Given the description of an element on the screen output the (x, y) to click on. 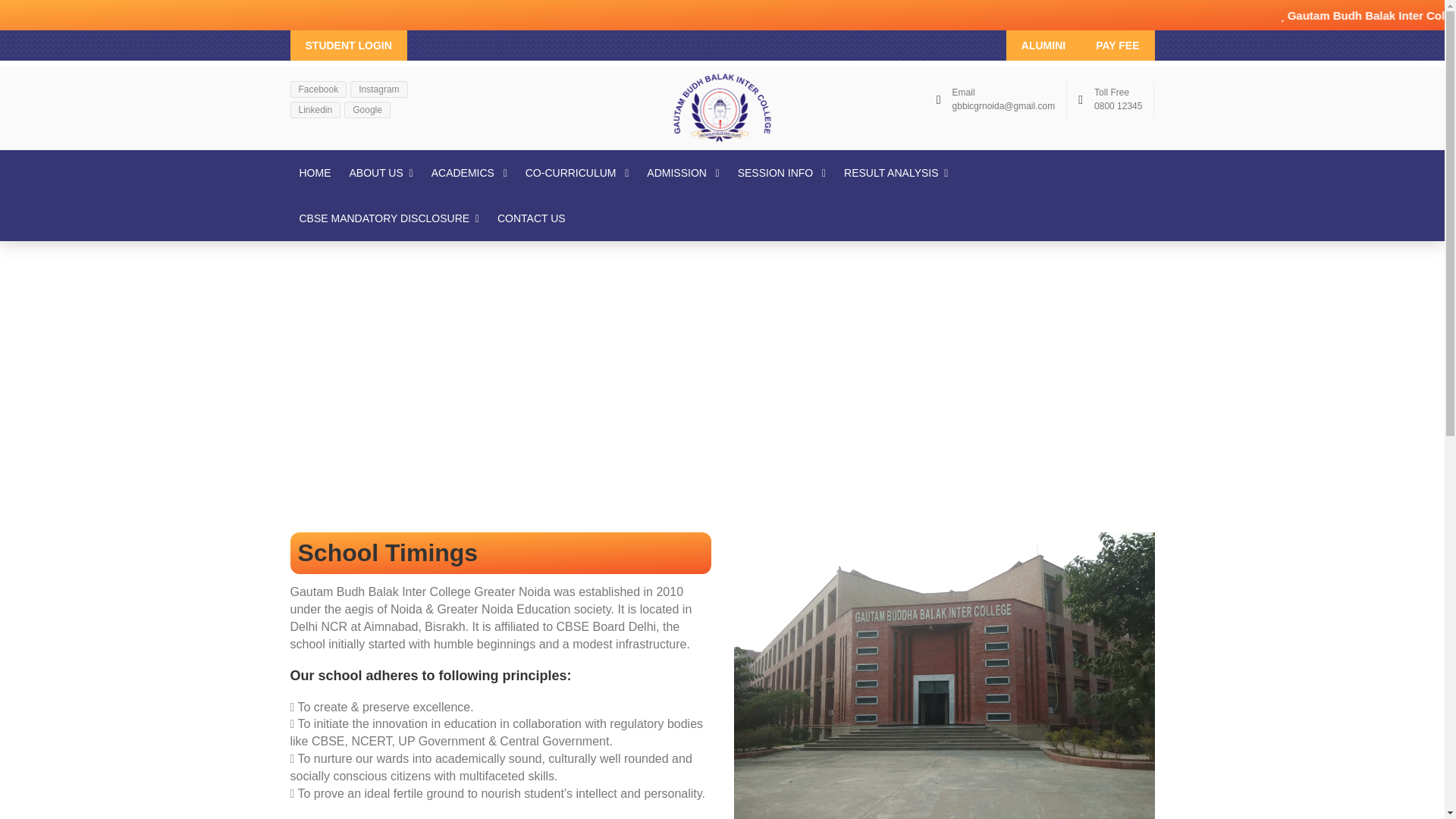
ADMISSION    (682, 172)
Google (366, 109)
SESSION INFO    (781, 172)
PAY FEE (1117, 45)
CO-CURRICULUM    (577, 172)
HOME (314, 172)
Linkedin (314, 109)
ALUMINI (1043, 45)
Facebook (317, 89)
RESULT ANALYSIS   (895, 172)
ACADEMICS    (469, 172)
Instagram (378, 89)
ABOUT US   (380, 172)
